Given the description of an element on the screen output the (x, y) to click on. 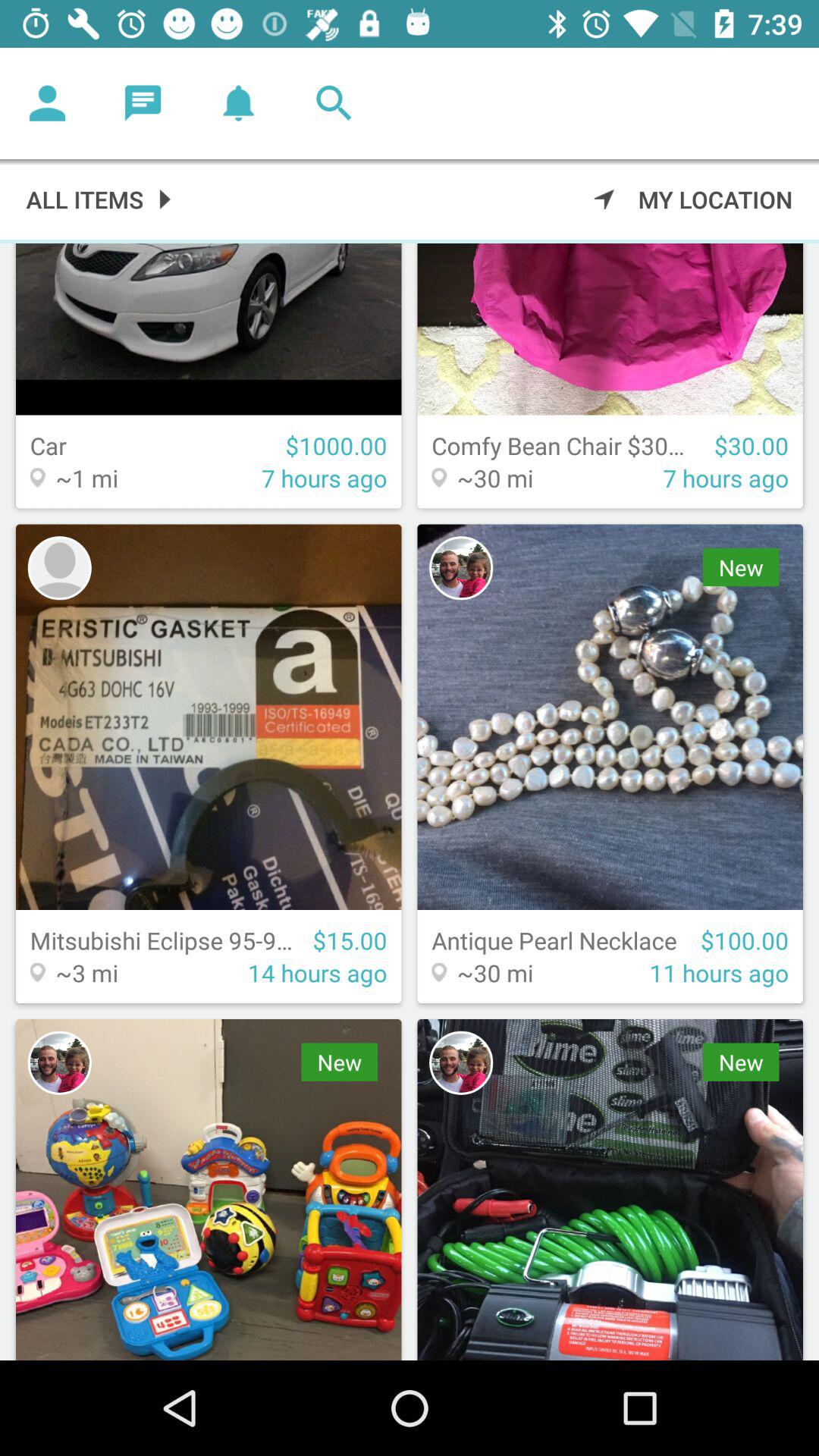
user profile (59, 568)
